Given the description of an element on the screen output the (x, y) to click on. 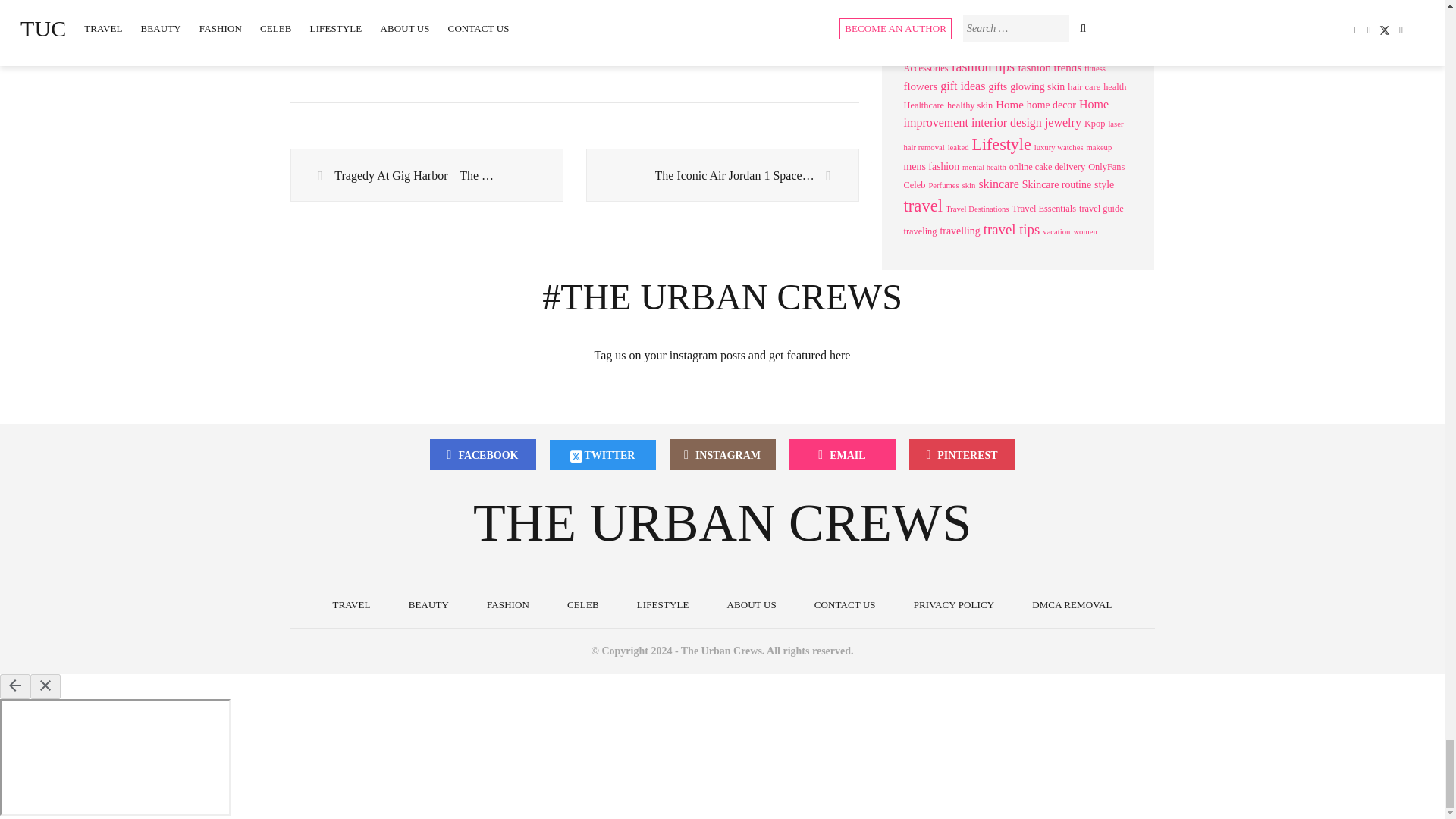
CREATIVE FUN (518, 11)
OUTDOOR ADVENTURES (370, 41)
KIDS ACTIVITIES (644, 11)
Tragedy At Gig Harbor - The Fatal Toll Booth Collision (426, 175)
ARTS AND CRAFTS (387, 11)
